Given the description of an element on the screen output the (x, y) to click on. 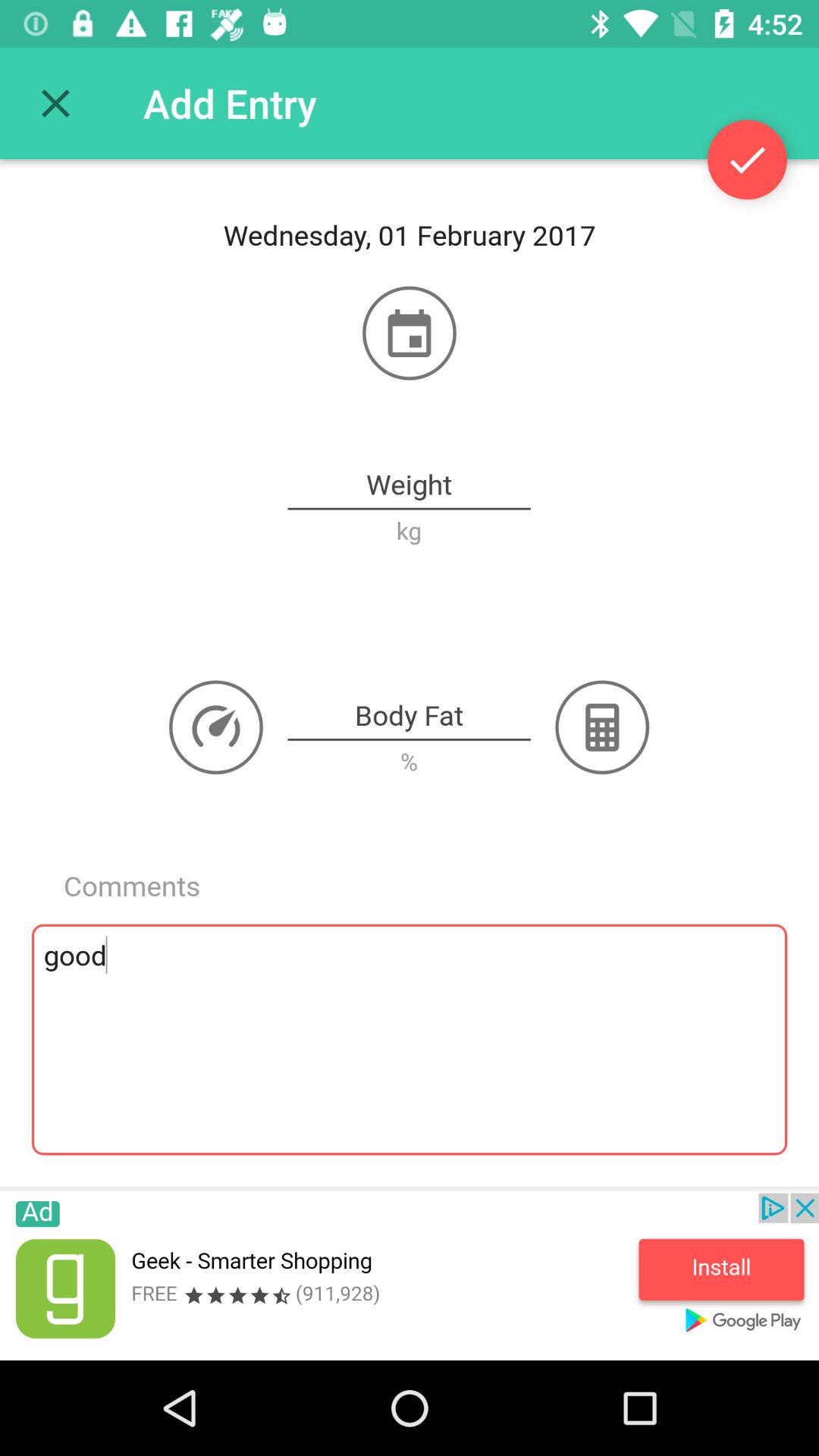
close (55, 103)
